Given the description of an element on the screen output the (x, y) to click on. 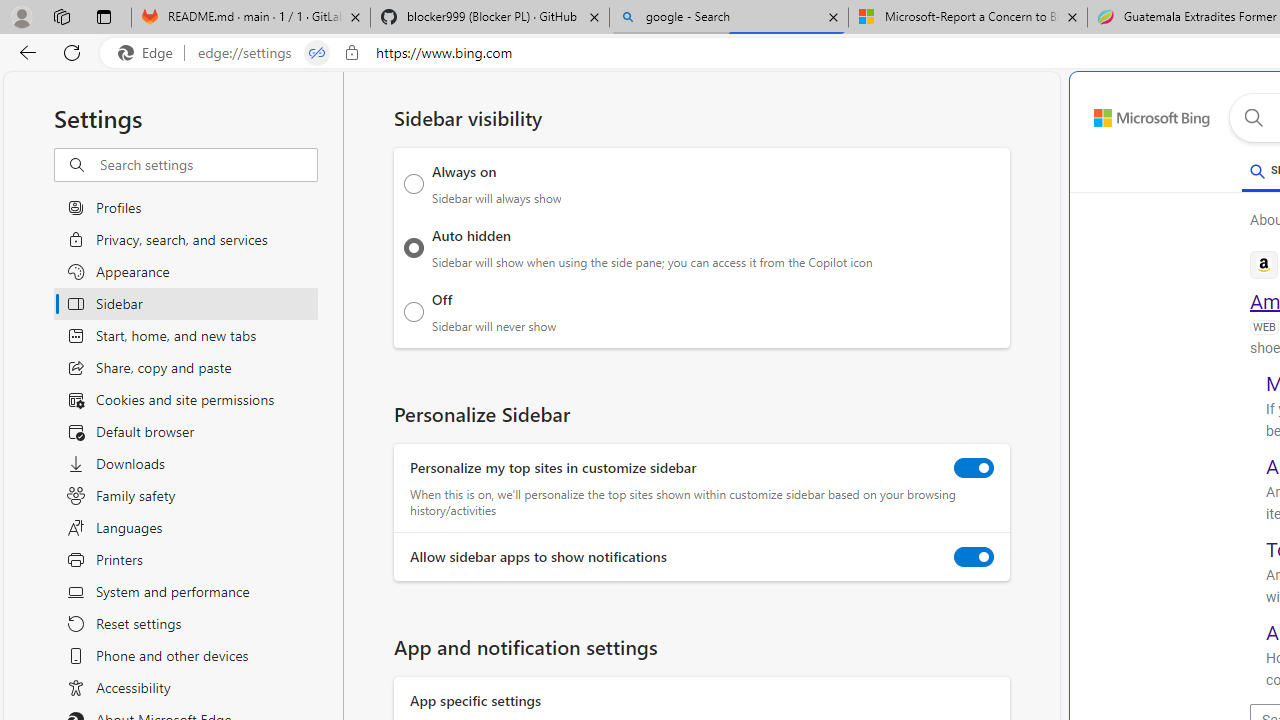
Personalize my top sites in customize sidebar (973, 467)
Off Sidebar will never show (413, 311)
Always on Sidebar will always show (413, 183)
